Given the description of an element on the screen output the (x, y) to click on. 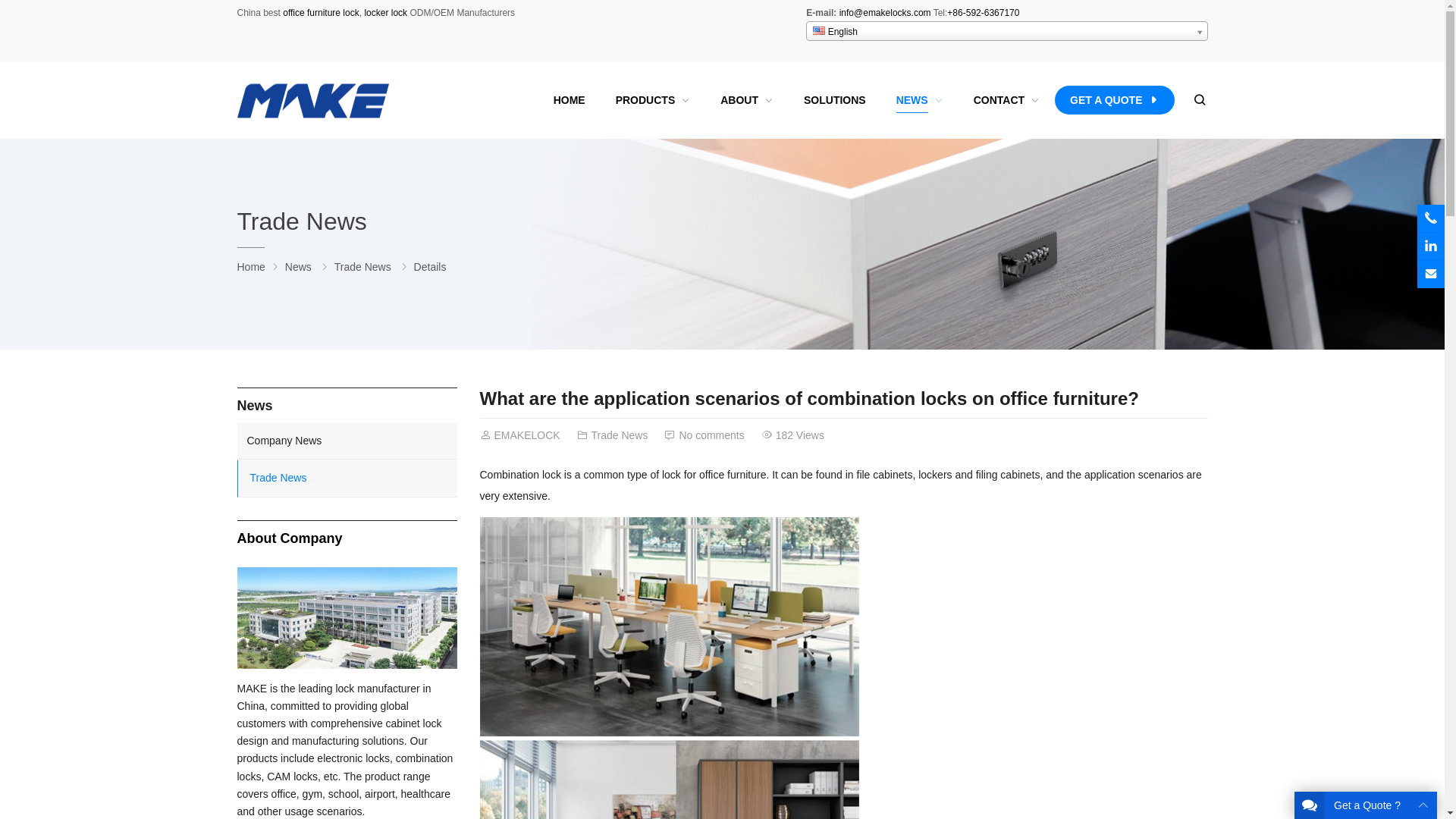
News (298, 266)
Trade News (619, 435)
Home (249, 266)
locker lock (384, 12)
PRODUCTS (652, 100)
ABOUT (746, 100)
No comments (710, 435)
English (818, 30)
Trade News (300, 221)
LinkedIn (1430, 245)
GET A QUOTE (1113, 99)
Trade News (362, 266)
English (1006, 30)
NEWS (919, 100)
office furniture lock (320, 12)
